Given the description of an element on the screen output the (x, y) to click on. 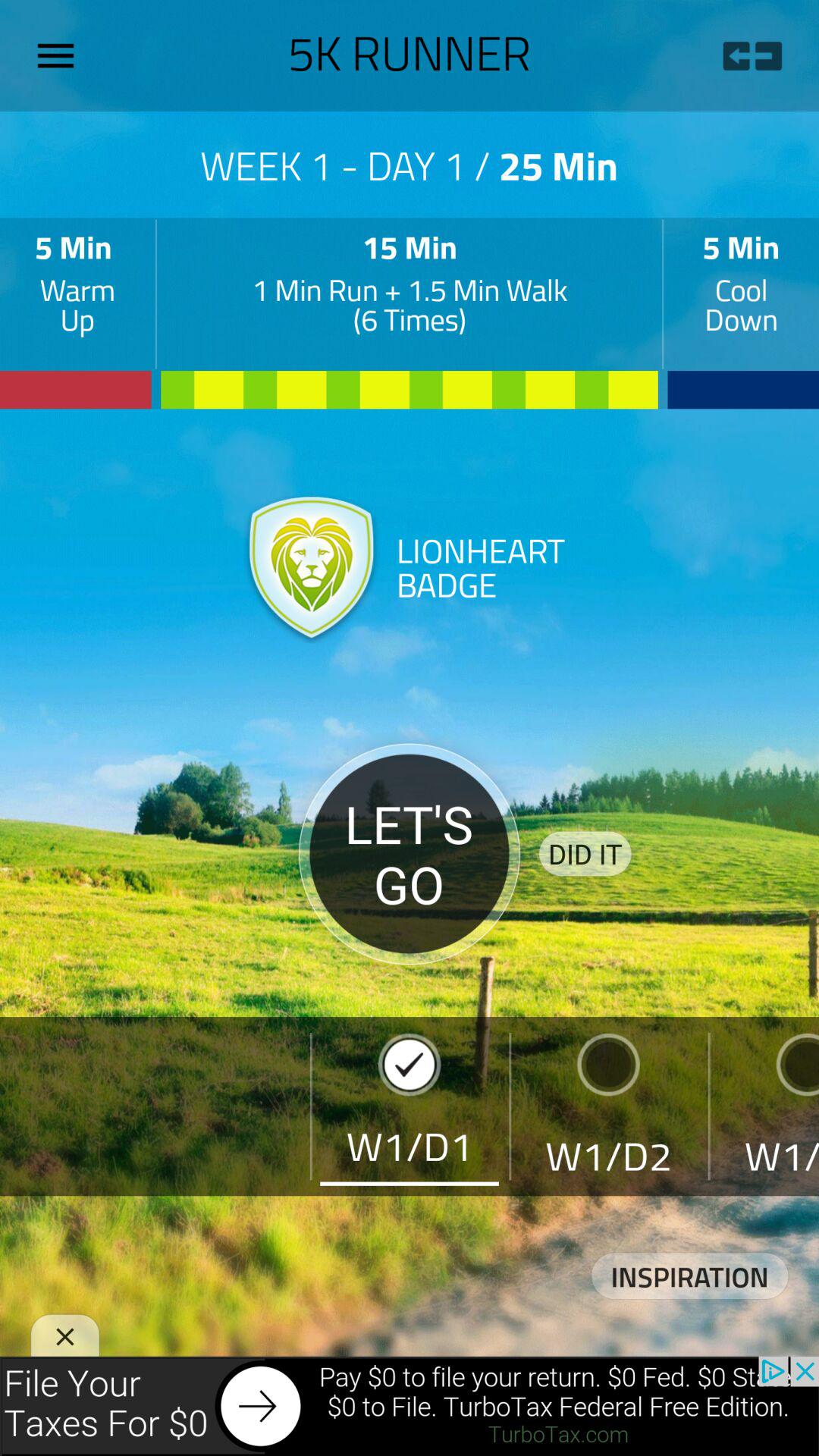
open options (61, 55)
